Given the description of an element on the screen output the (x, y) to click on. 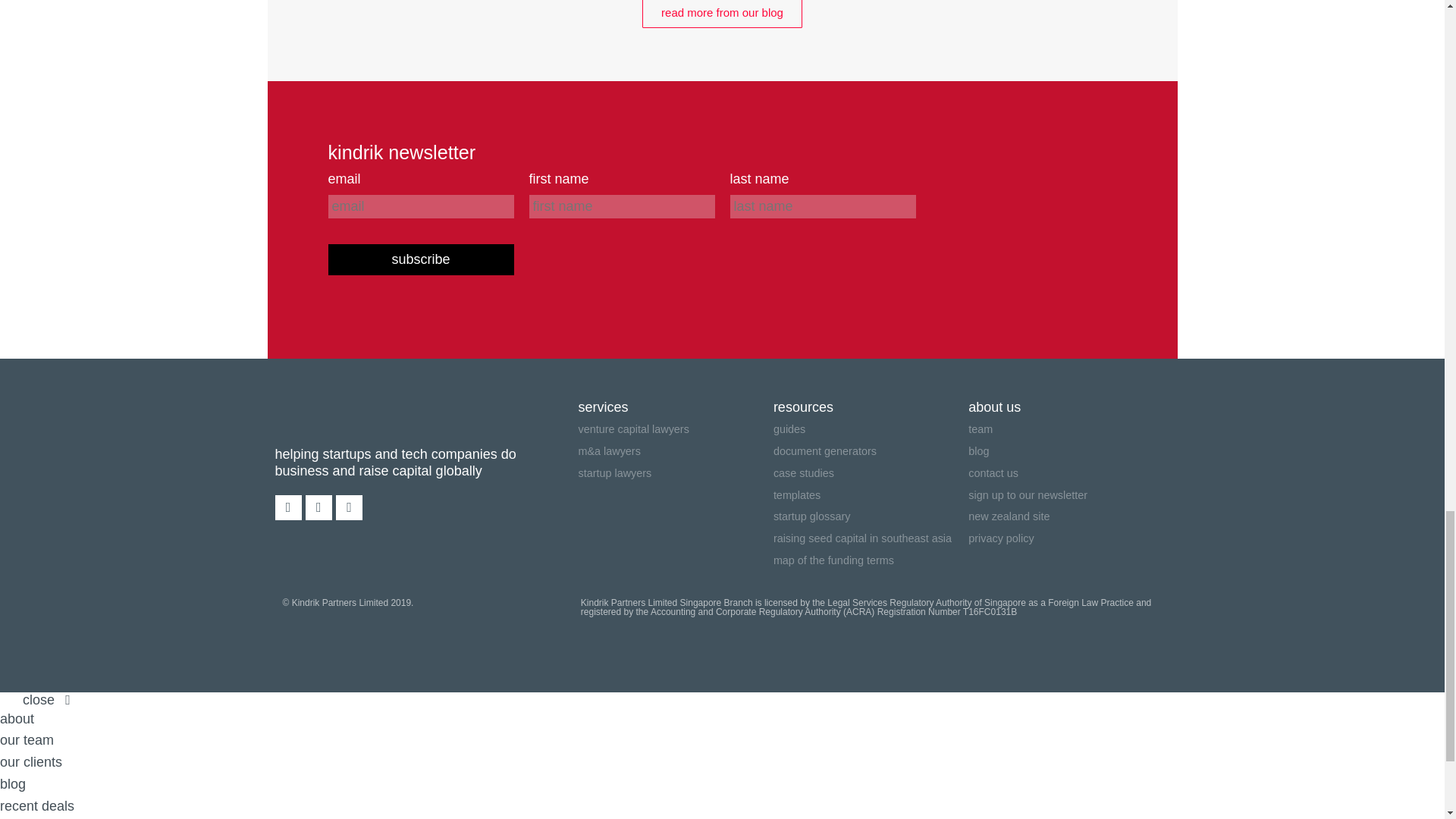
resources (870, 407)
case studies (870, 473)
guides (870, 429)
document generators (870, 451)
read more from our blog (722, 13)
venture capital lawyers (675, 429)
kindrik (335, 416)
Subscribe (420, 259)
templates (870, 495)
Subscribe (420, 259)
raising seed capital in southeast asia (870, 538)
startup lawyers (675, 473)
startup glossary (870, 516)
services (675, 407)
